Given the description of an element on the screen output the (x, y) to click on. 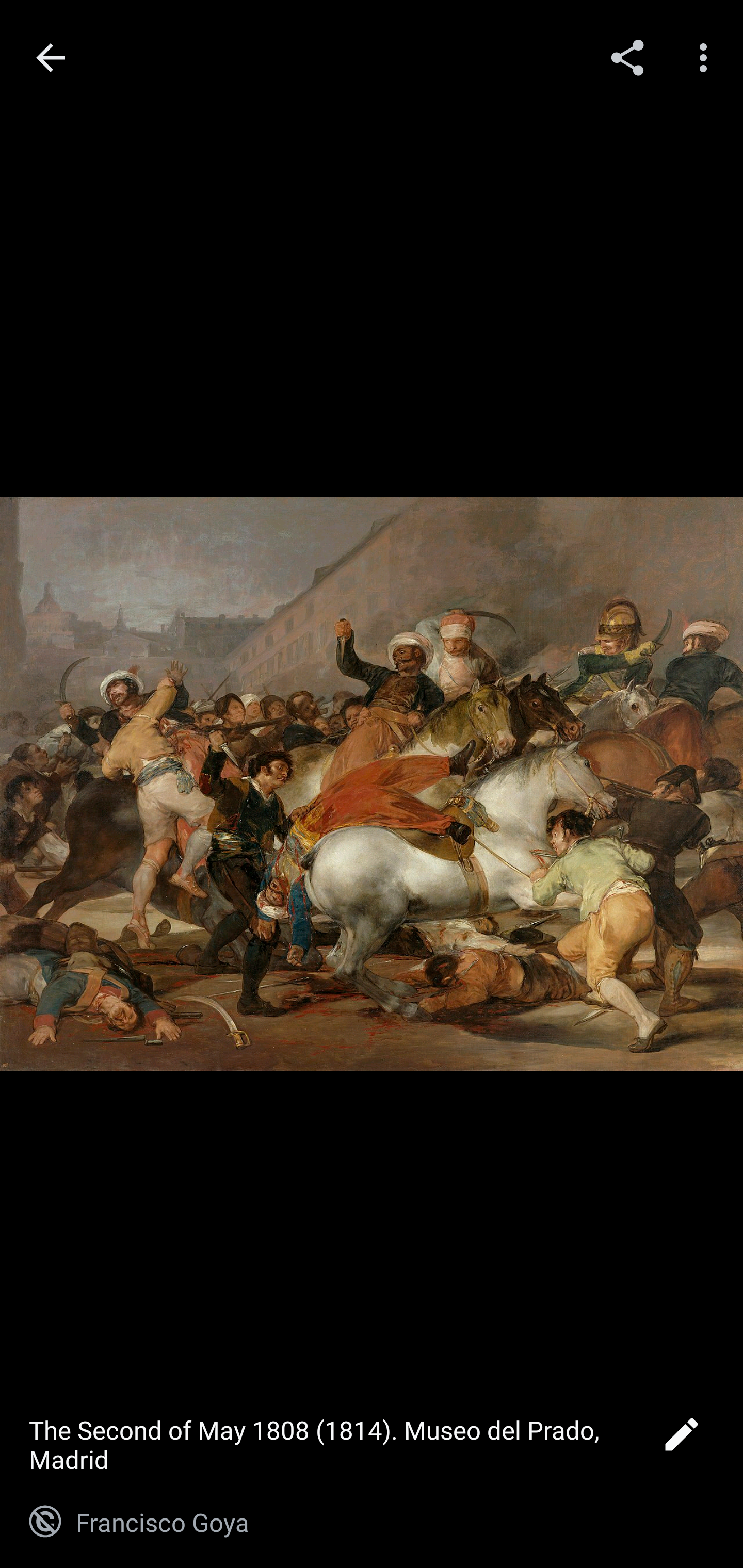
Navigate up (50, 57)
Share (626, 57)
More options (706, 57)
Edit image caption (681, 1439)
Public domain (44, 1521)
